Given the description of an element on the screen output the (x, y) to click on. 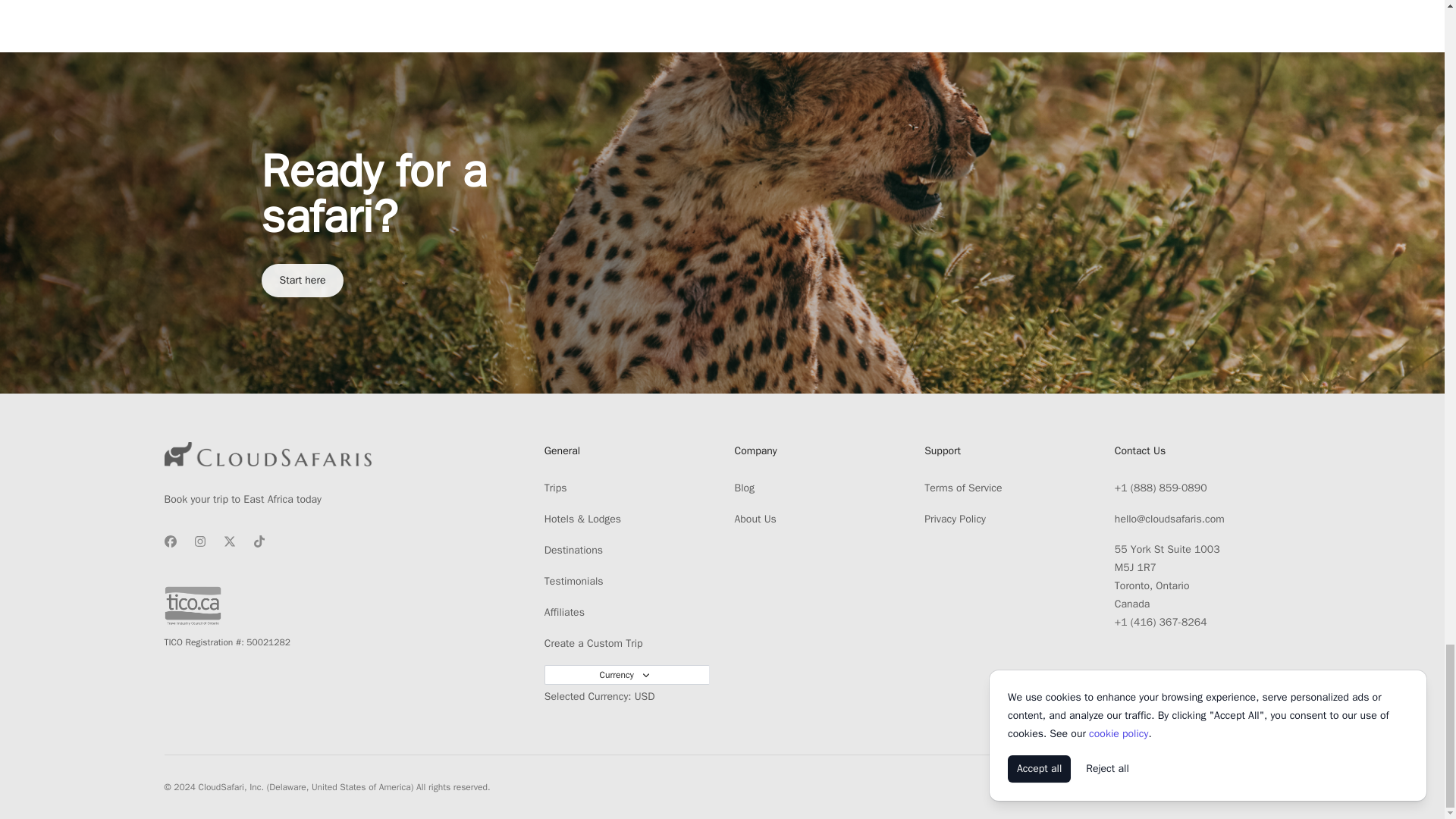
Privacy Policy (954, 518)
Affiliates (564, 612)
About Us (754, 518)
Blog (743, 487)
Terms of Service (962, 487)
Currency (627, 674)
Start here (301, 280)
Create a Custom Trip (593, 643)
Testimonials (574, 581)
Destinations (573, 549)
Trips (555, 487)
